Given the description of an element on the screen output the (x, y) to click on. 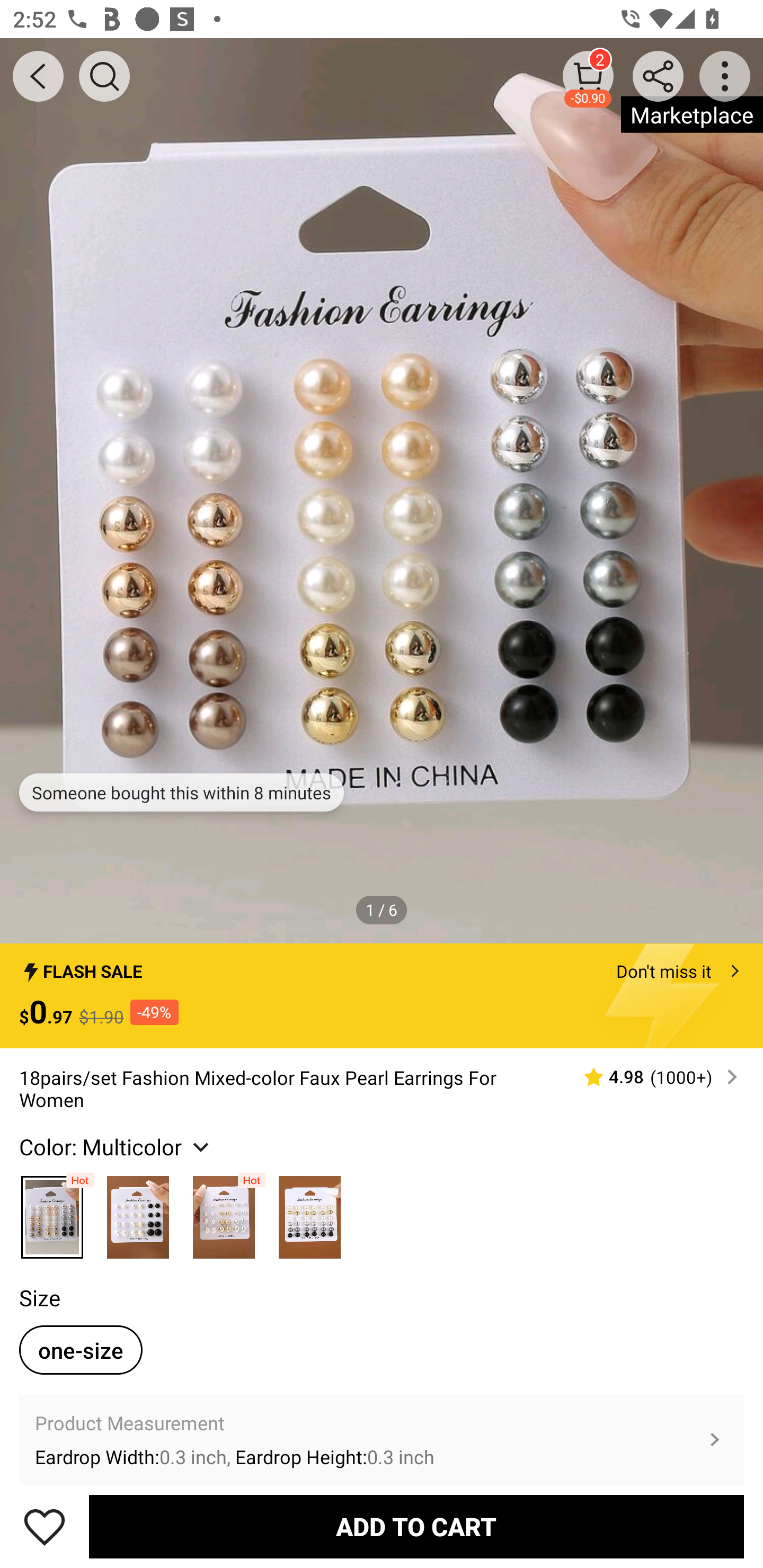
BACK (38, 75)
2 -$0.90 (588, 75)
1 / 6 (381, 909)
FLASH SALE Don't miss it $0.97 $1.90 -49% (381, 995)
FLASH SALE Don't miss it (381, 966)
4.98 (1000‎+) (653, 1076)
Color: Multicolor (116, 1146)
Multicolor (52, 1212)
Multicolor (138, 1212)
Multicolor (224, 1212)
Multicolor (309, 1212)
Size (39, 1297)
one-size one-sizeselected option (80, 1349)
ADD TO CART (416, 1526)
Save (44, 1526)
